Given the description of an element on the screen output the (x, y) to click on. 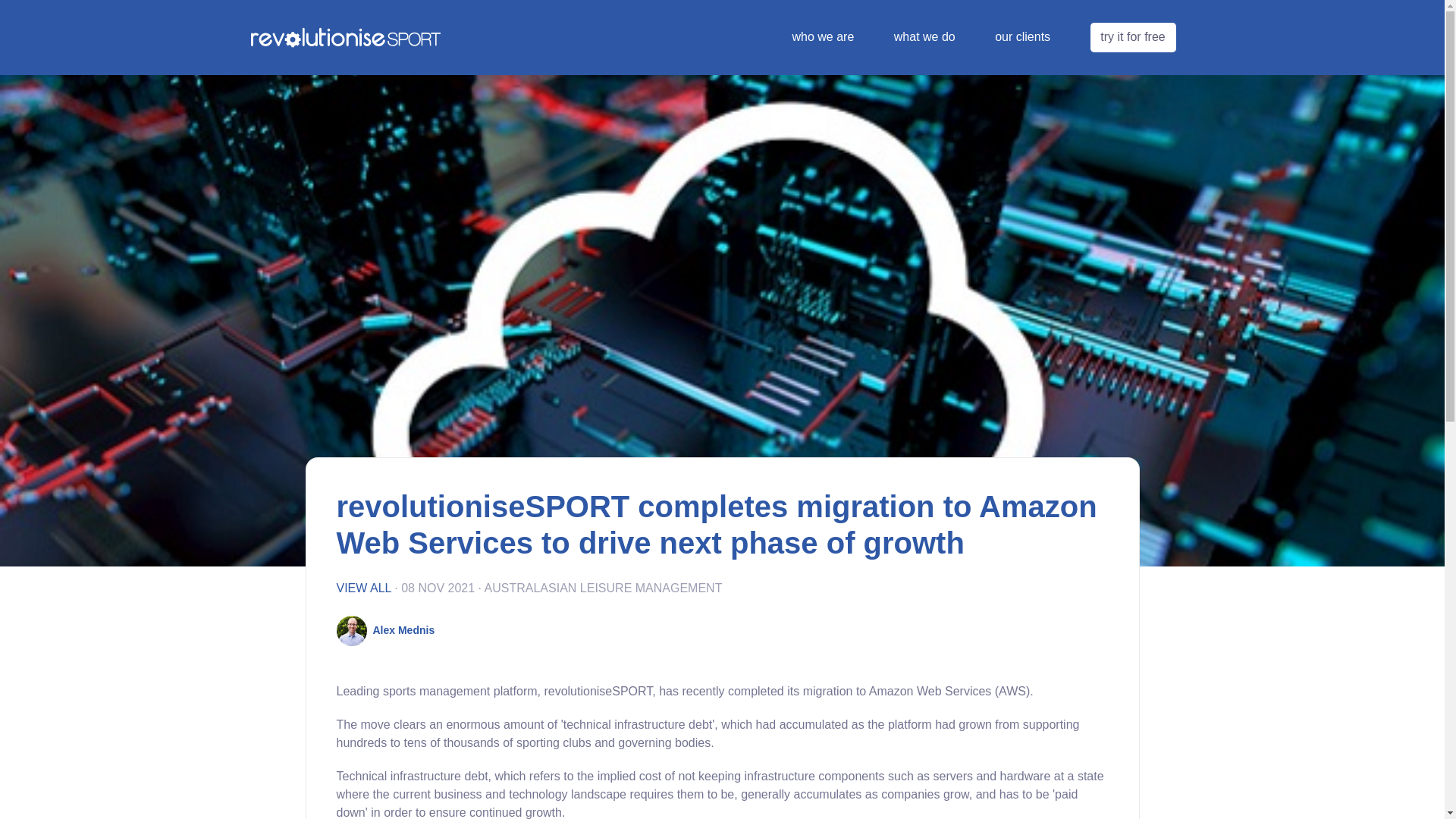
try it for free (1133, 37)
who we are (822, 36)
VIEW ALL (363, 587)
Alex Mednis (403, 630)
what we do (924, 36)
our clients (1021, 36)
